Given the description of an element on the screen output the (x, y) to click on. 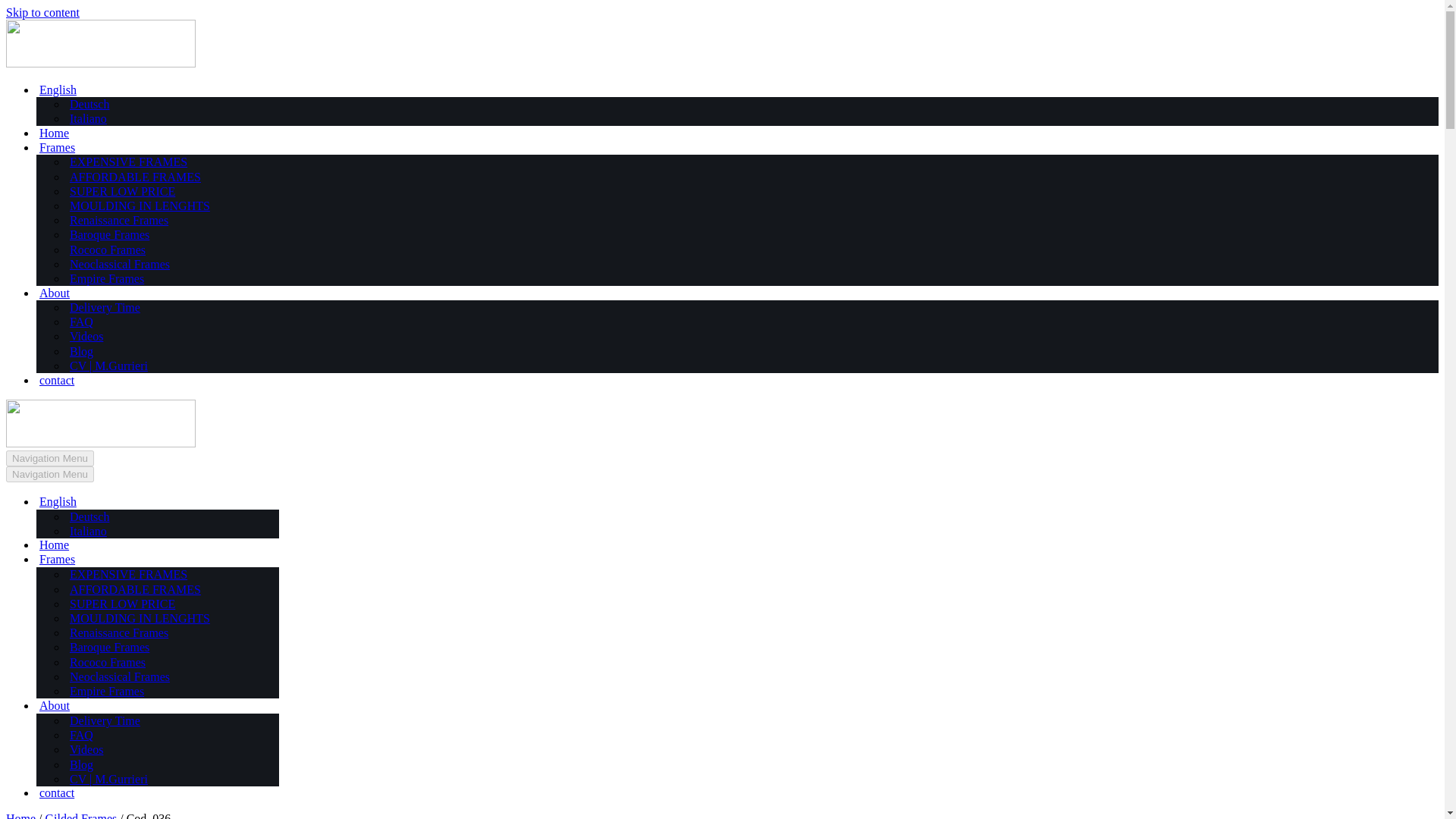
Rococo Frames (107, 249)
Blog (81, 350)
SUPER LOW PRICE (121, 191)
Frames (57, 147)
MOULDING IN LENGHTS (139, 205)
AFFORDABLE FRAMES (134, 176)
Home (53, 133)
Italiano (172, 531)
Navigation Menu (49, 474)
Frames (165, 559)
